Given the description of an element on the screen output the (x, y) to click on. 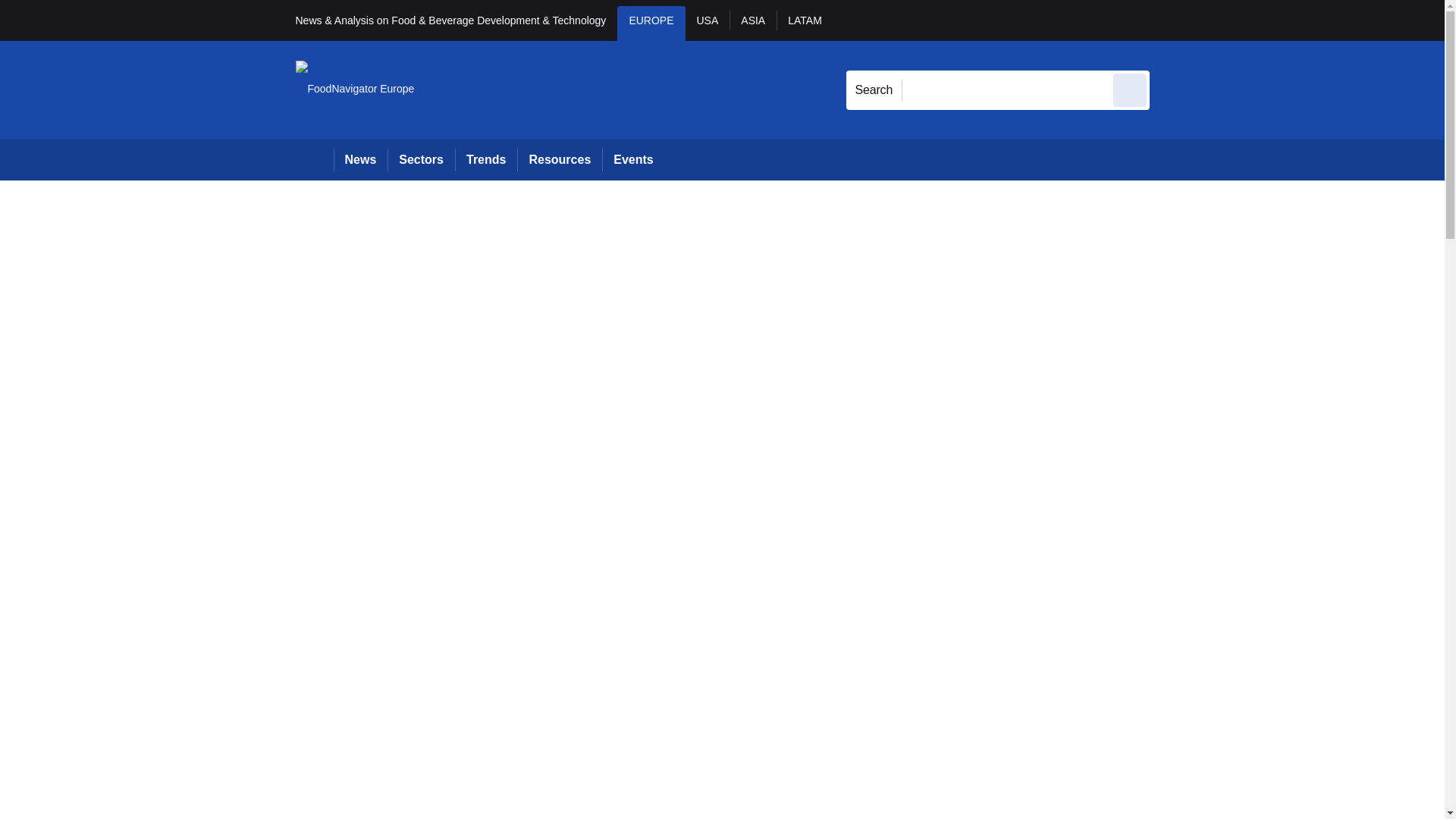
FoodNavigator Europe (354, 89)
Send (1129, 90)
USA (707, 22)
News (360, 159)
Sign in (1171, 20)
Sectors (420, 159)
ASIA (752, 22)
Sign out (1174, 20)
Home (313, 159)
Send (1129, 89)
REGISTER (1250, 20)
Home (314, 159)
My account (1256, 20)
EUROPE (650, 22)
LATAM (804, 22)
